Given the description of an element on the screen output the (x, y) to click on. 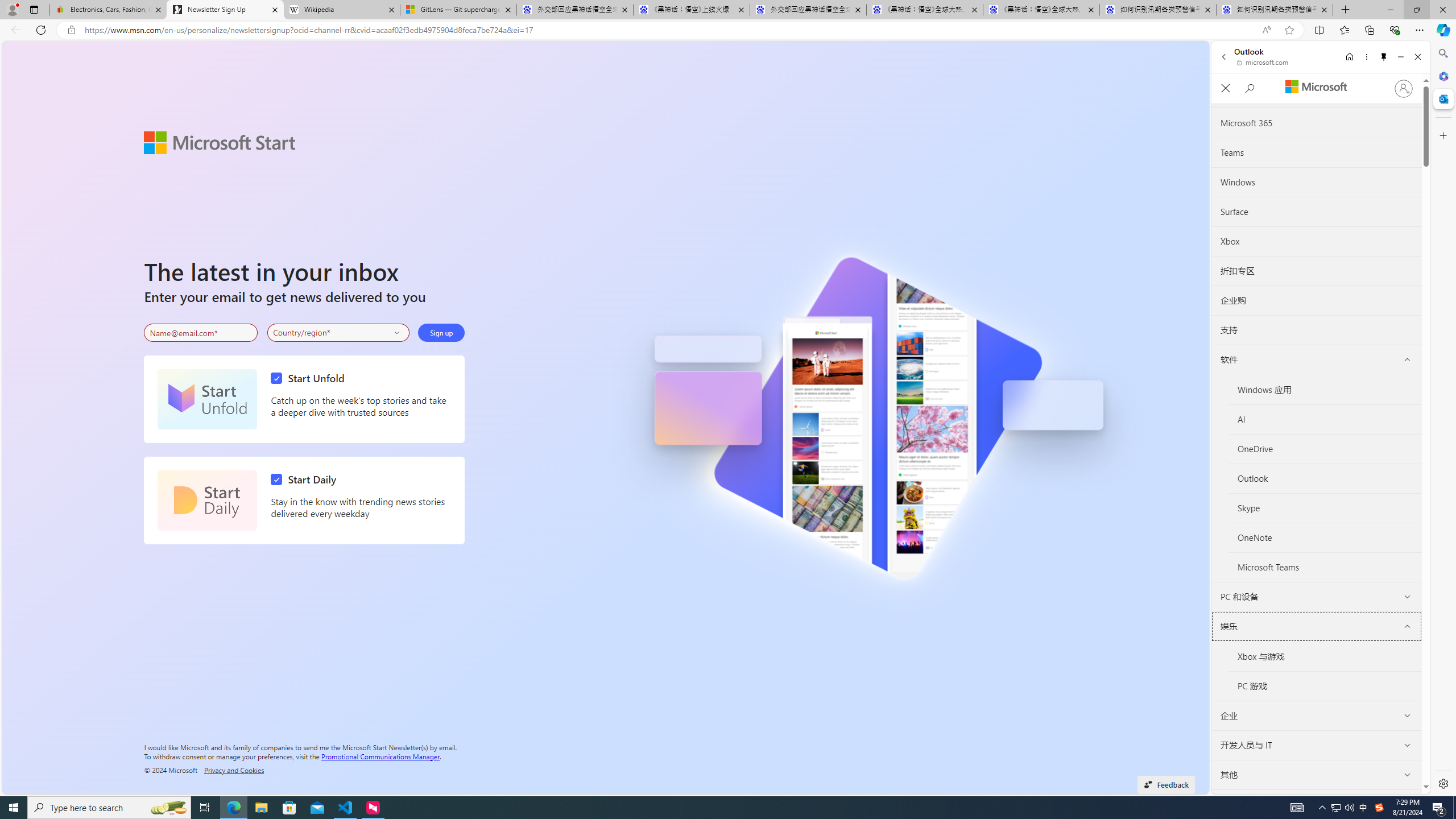
OneNote (1324, 538)
Microsoft (1315, 87)
More options (1366, 56)
Electronics, Cars, Fashion, Collectibles & More | eBay (108, 9)
Microsoft Teams (1324, 567)
